Given the description of an element on the screen output the (x, y) to click on. 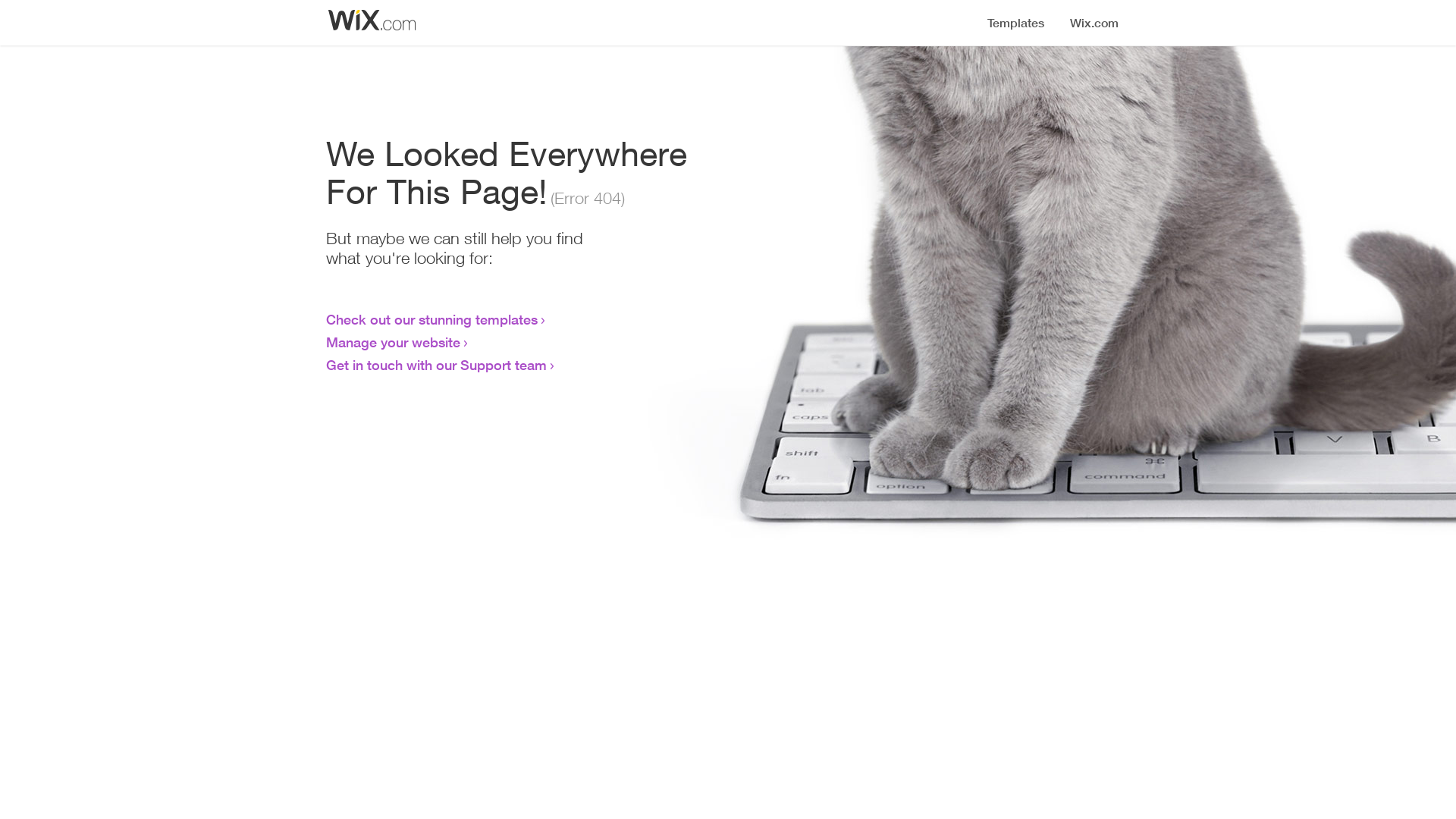
Check out our stunning templates Element type: text (431, 318)
Get in touch with our Support team Element type: text (436, 364)
Manage your website Element type: text (393, 341)
